Given the description of an element on the screen output the (x, y) to click on. 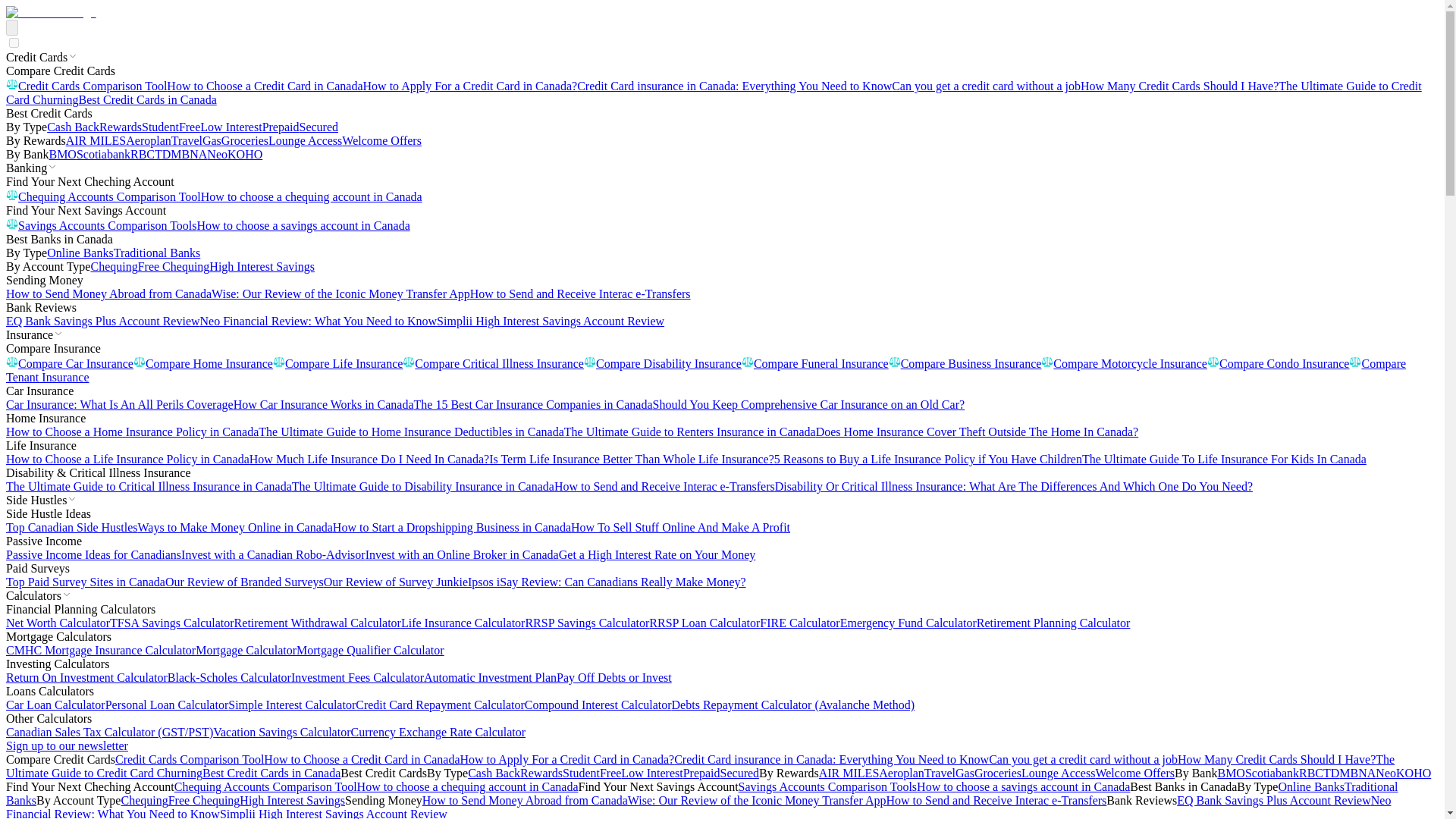
Lounge Access (304, 140)
on (13, 42)
Best Credit Cards in Canada (147, 99)
Traditional Banks (156, 252)
Free Chequing (173, 266)
KOHO (244, 154)
Neo (216, 154)
Credit Card insurance in Canada: Everything You Need to Know (733, 85)
TD (162, 154)
Free (189, 126)
How Many Credit Cards Should I Have? (1179, 85)
Chequing Accounts Comparison Tool (102, 196)
Cash Back (72, 126)
BMO (61, 154)
How to choose a savings account in Canada (302, 225)
